Given the description of an element on the screen output the (x, y) to click on. 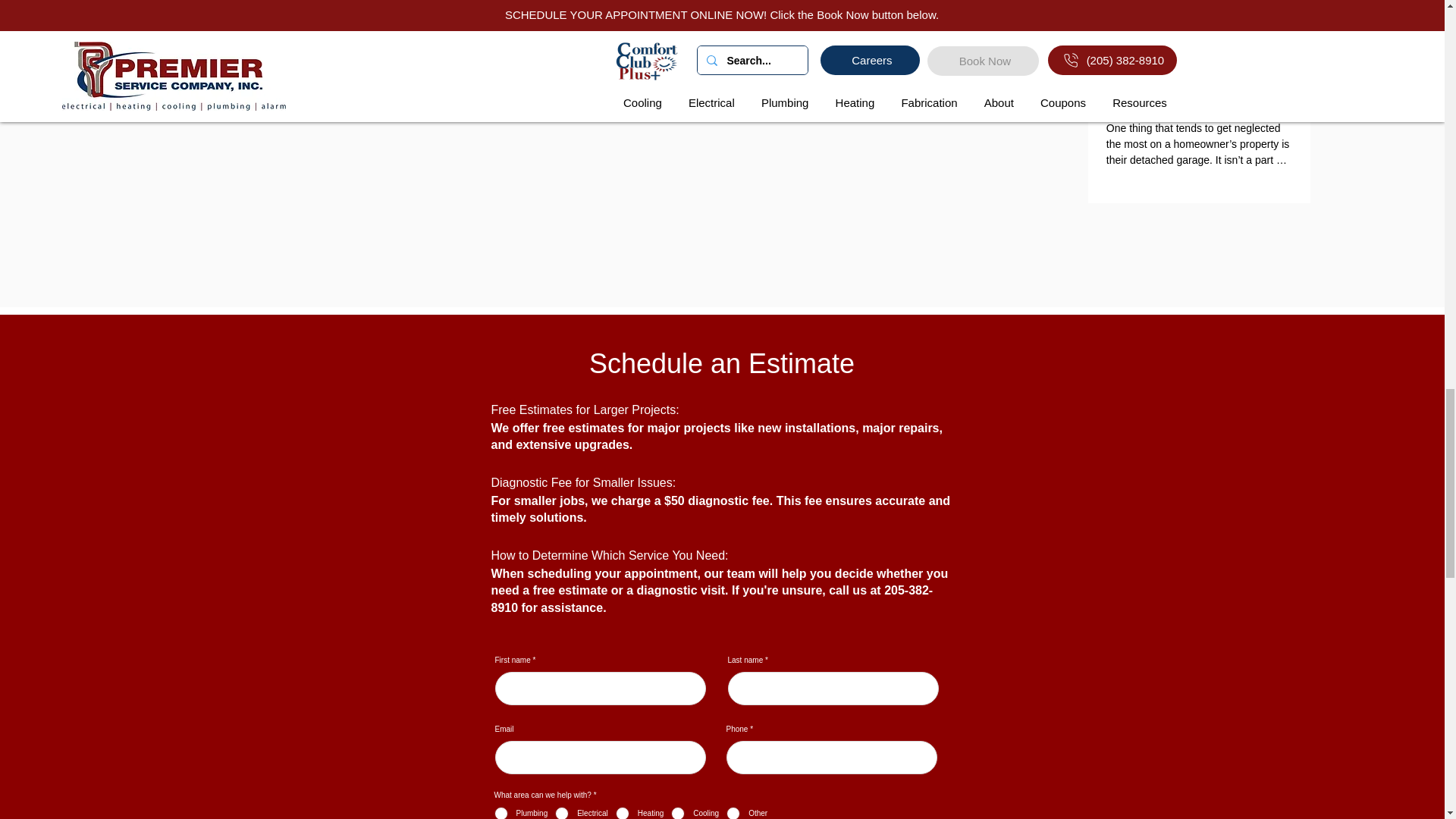
Jan 9, 2021 (1130, 59)
